Given the description of an element on the screen output the (x, y) to click on. 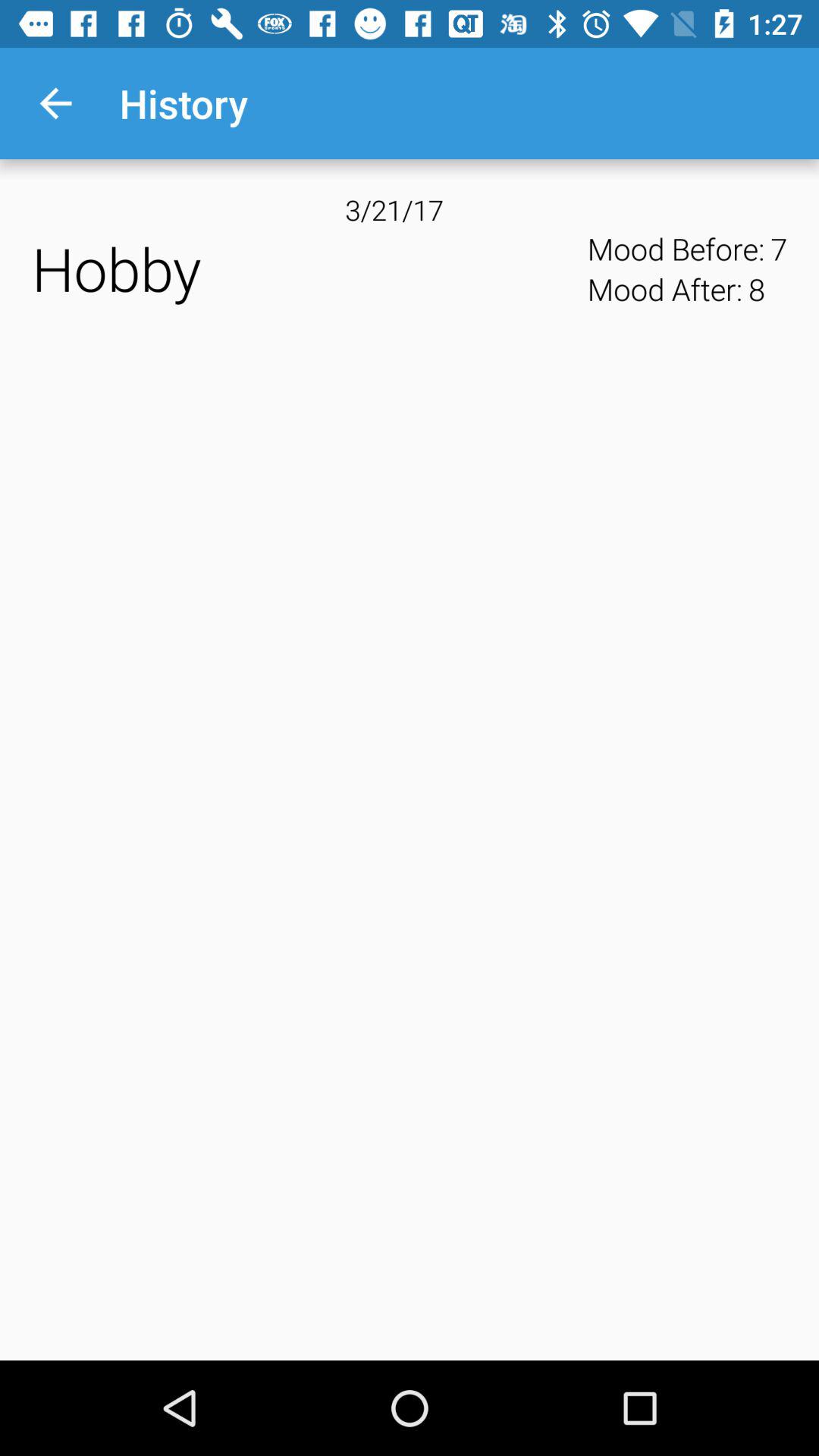
turn on 7 item (778, 248)
